Given the description of an element on the screen output the (x, y) to click on. 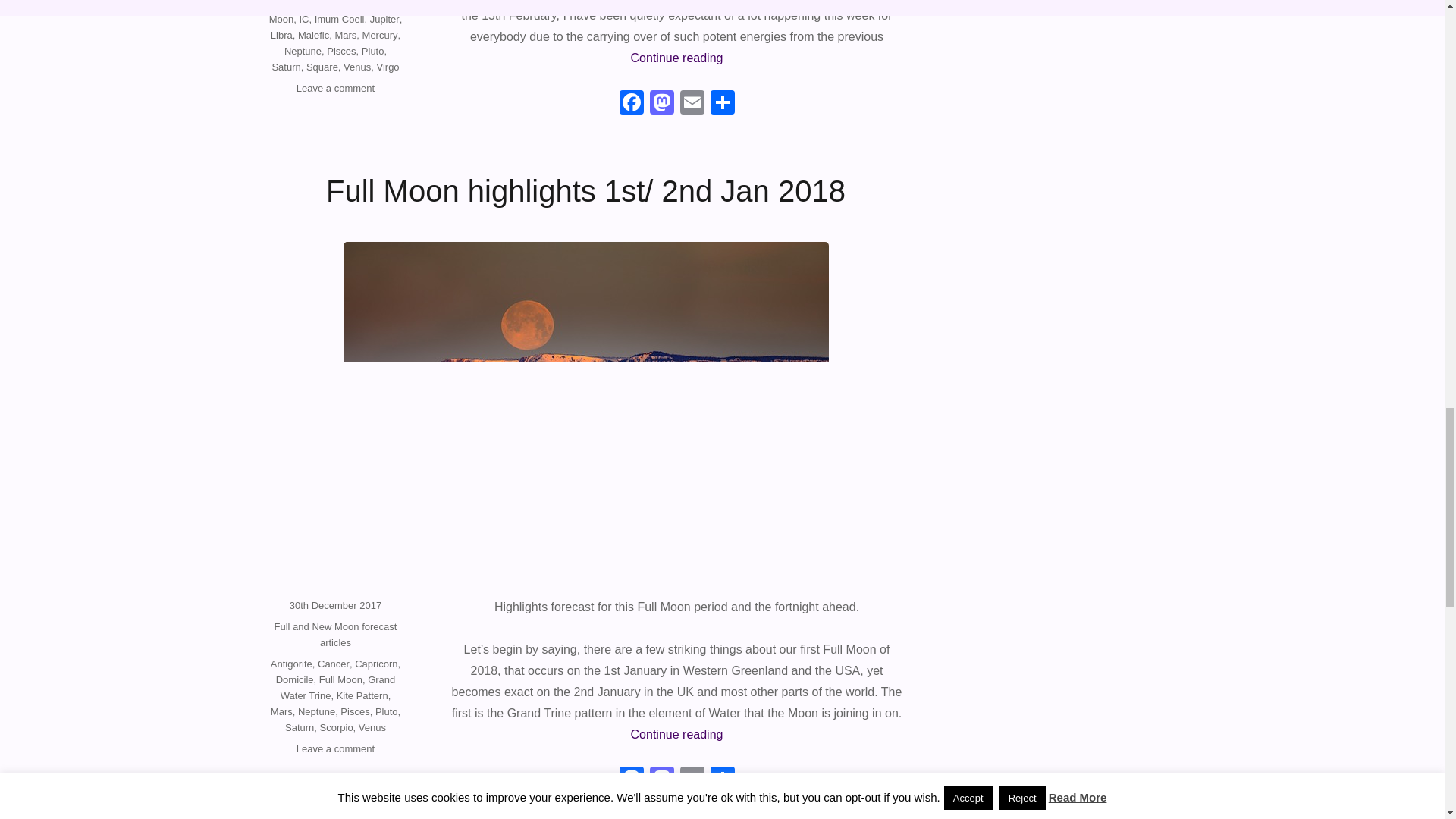
Email (691, 780)
Capricorn (296, 4)
Full Moon (332, 12)
Mastodon (661, 780)
Email (691, 103)
Facebook (630, 103)
Imum Coeli (339, 19)
Facebook (630, 103)
Conjunction (349, 4)
Mastodon (661, 103)
